Given the description of an element on the screen output the (x, y) to click on. 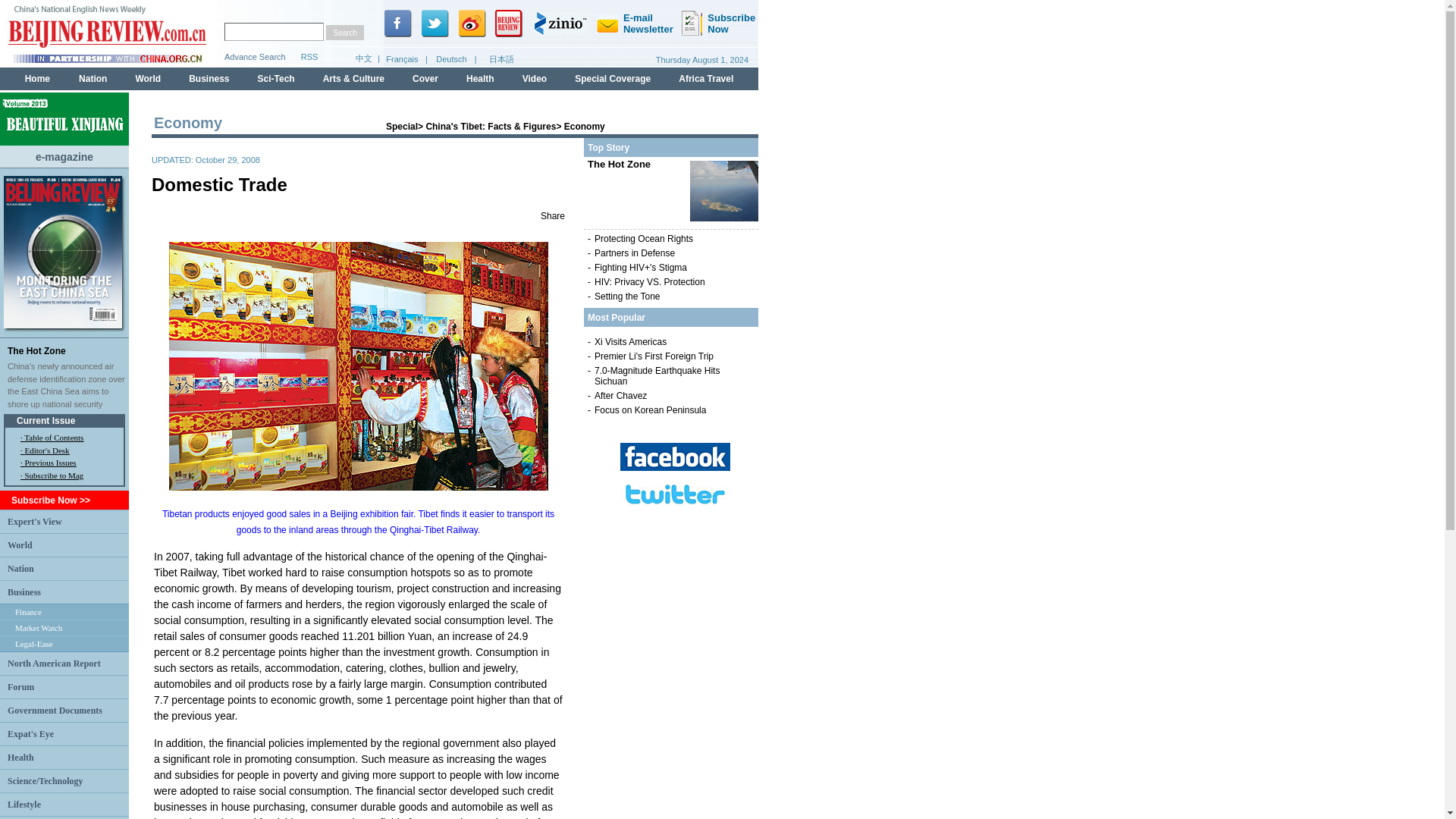
Legal-Ease (33, 643)
Lifestyle (23, 804)
Editor's Desk (46, 450)
Government Documents (54, 710)
The Hot Zone (36, 350)
Finance (28, 611)
Business (23, 592)
Expat's Eye (30, 733)
North American Report (53, 663)
e-magazine (63, 155)
Health (20, 757)
World (19, 544)
Expert's View (34, 520)
Current Issue (45, 420)
